Given the description of an element on the screen output the (x, y) to click on. 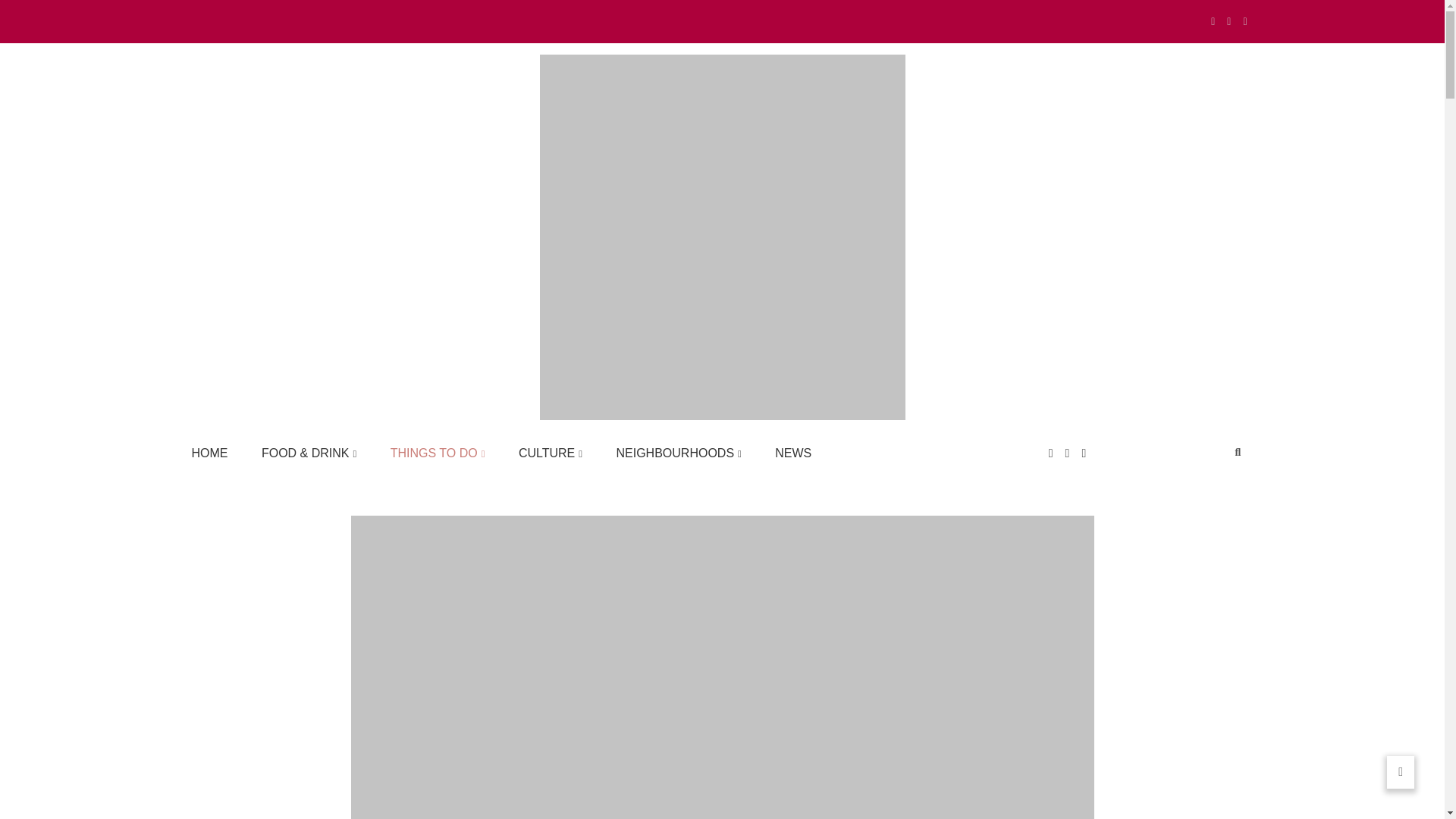
THINGS TO DO (437, 453)
NEIGHBOURHOODS (678, 453)
HOME (208, 453)
The London Eats List (303, 441)
CULTURE (550, 453)
